Given the description of an element on the screen output the (x, y) to click on. 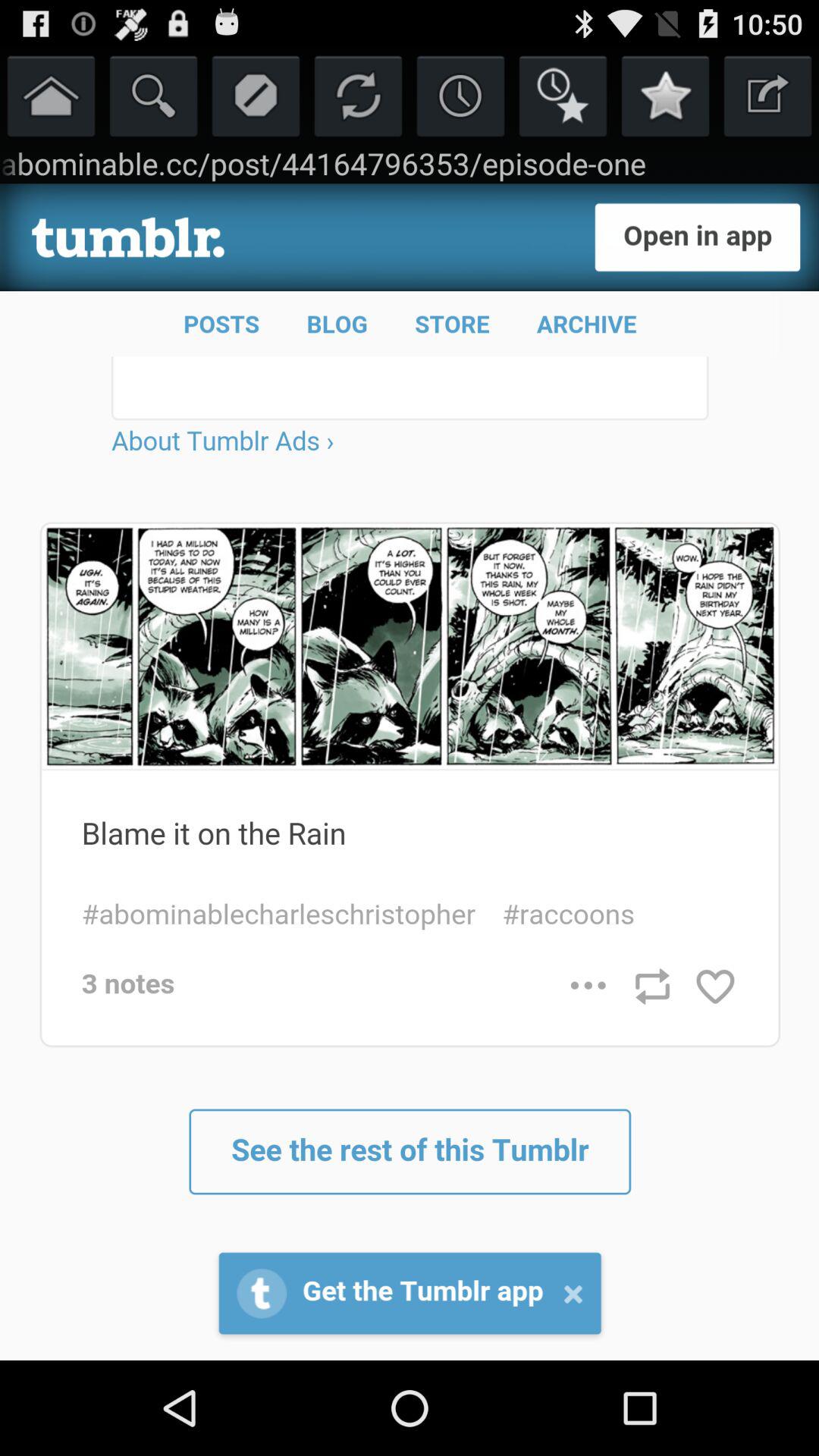
go to back (767, 95)
